Given the description of an element on the screen output the (x, y) to click on. 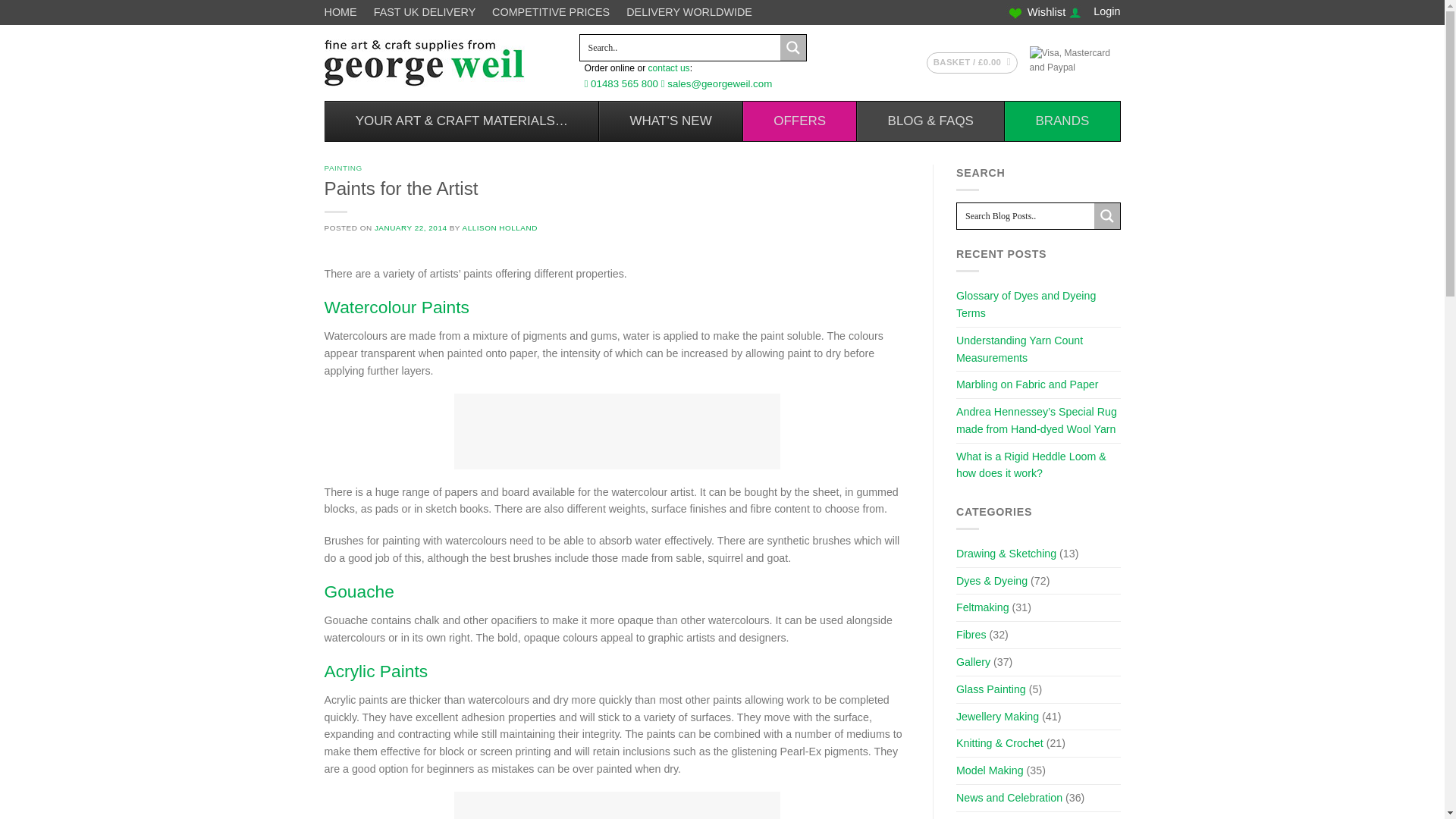
Gouache (359, 591)
Watercolour Paint Swatches (617, 431)
Acrylic Paints (376, 670)
Basket (971, 62)
HOME   (343, 12)
01483 565 800 (626, 83)
Login (1106, 11)
DELIVERY WORLDWIDE (689, 12)
contact us (668, 68)
Login (1106, 11)
